Given the description of an element on the screen output the (x, y) to click on. 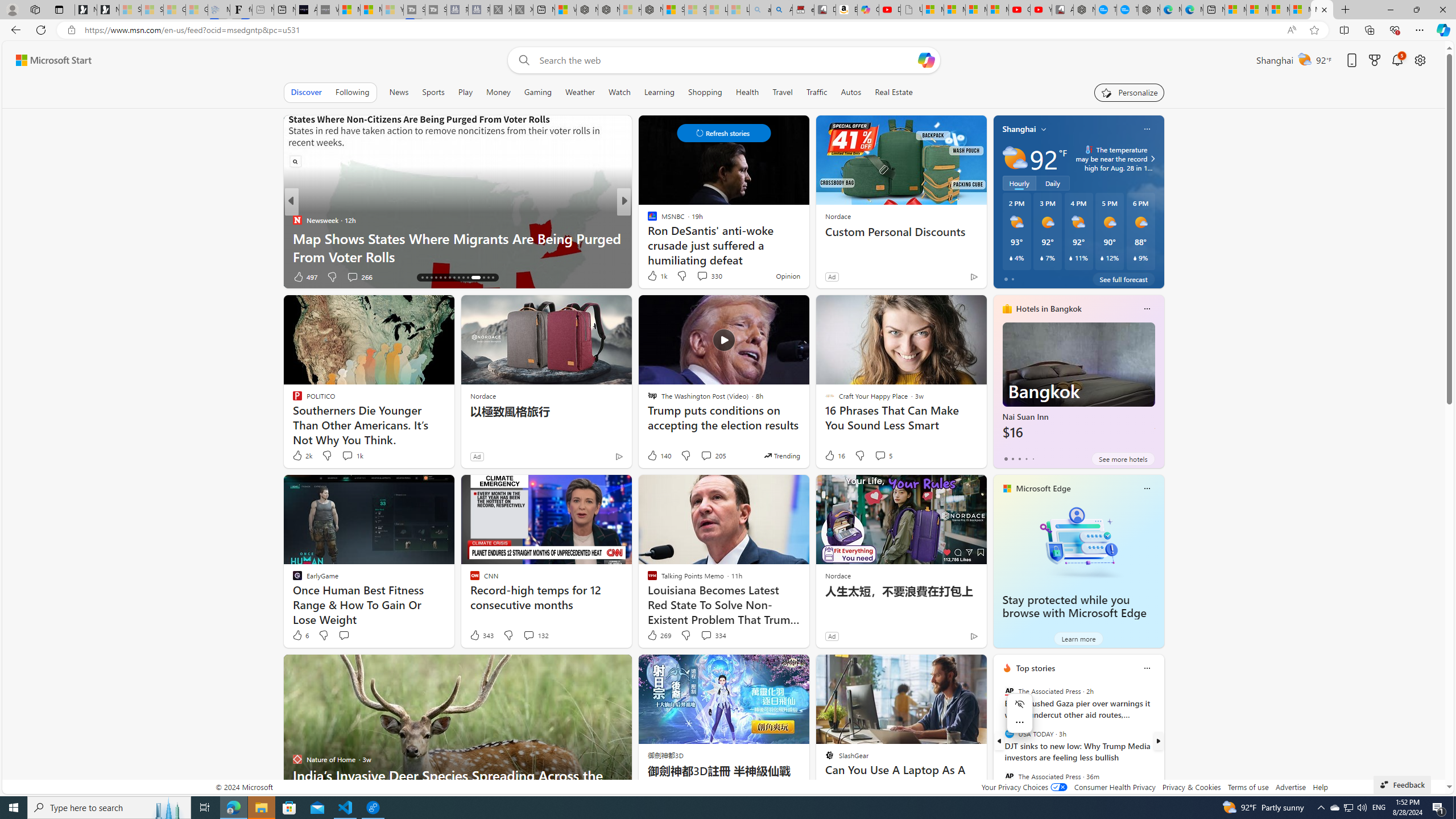
View comments 152 Comment (6, 276)
Play (465, 92)
AutomationID: tab-16 (422, 277)
Custom Personal Discounts (900, 232)
Mini menu on text selection (1019, 719)
AutomationID: tab-29 (488, 277)
View comments 330 Comment (708, 275)
Dangerous heat to head to Northeast after slamming Midwest (807, 247)
343 Like (480, 634)
